Given the description of an element on the screen output the (x, y) to click on. 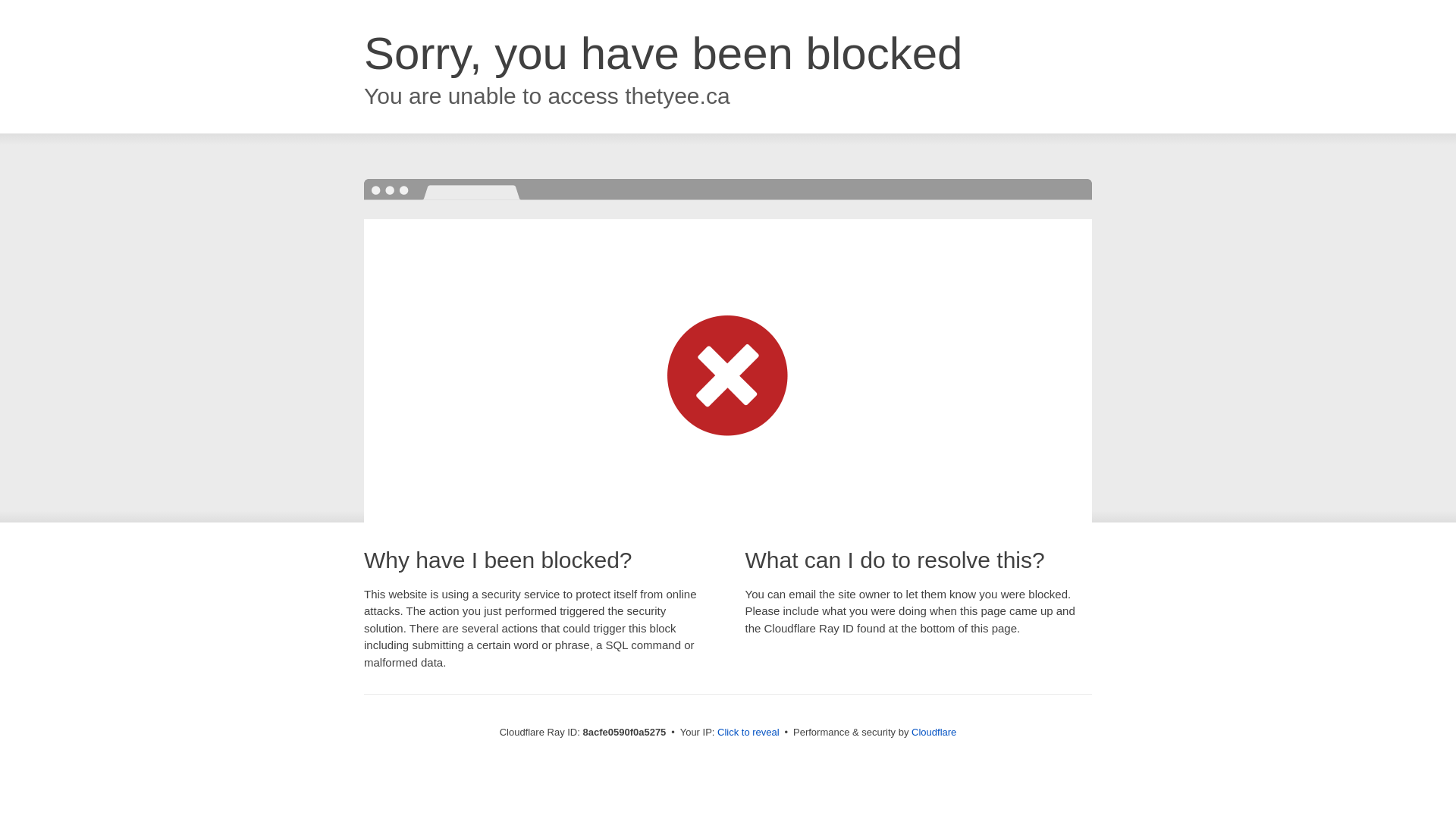
Cloudflare (933, 731)
Click to reveal (747, 732)
